Given the description of an element on the screen output the (x, y) to click on. 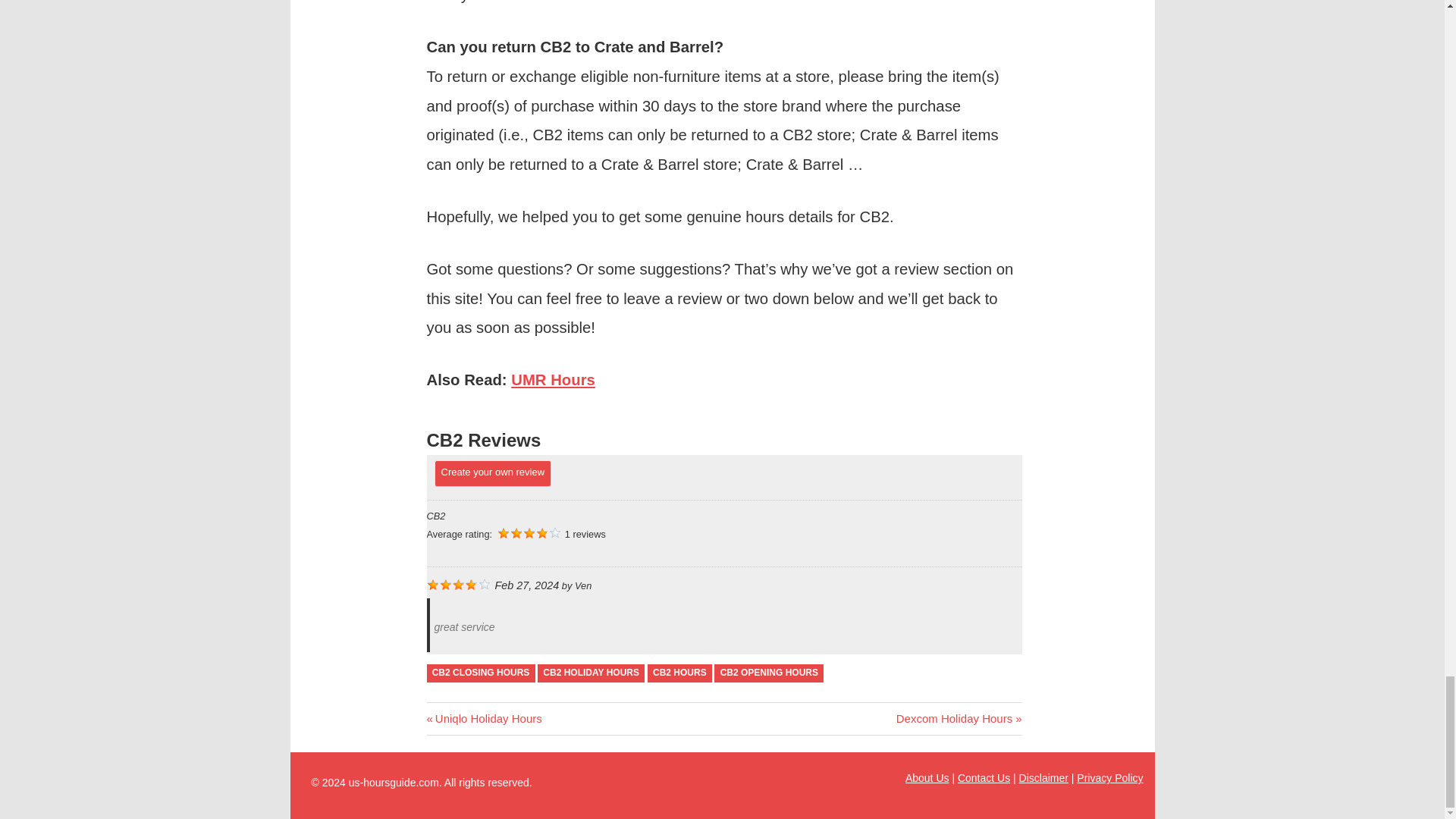
CB2 HOURS (679, 673)
About Us (927, 777)
CB2 CLOSING HOURS (480, 673)
CB2 HOLIDAY HOURS (959, 717)
CB2 OPENING HOURS (591, 673)
Contact Us (769, 673)
Privacy Policy (483, 717)
Disclaimer (984, 777)
